Given the description of an element on the screen output the (x, y) to click on. 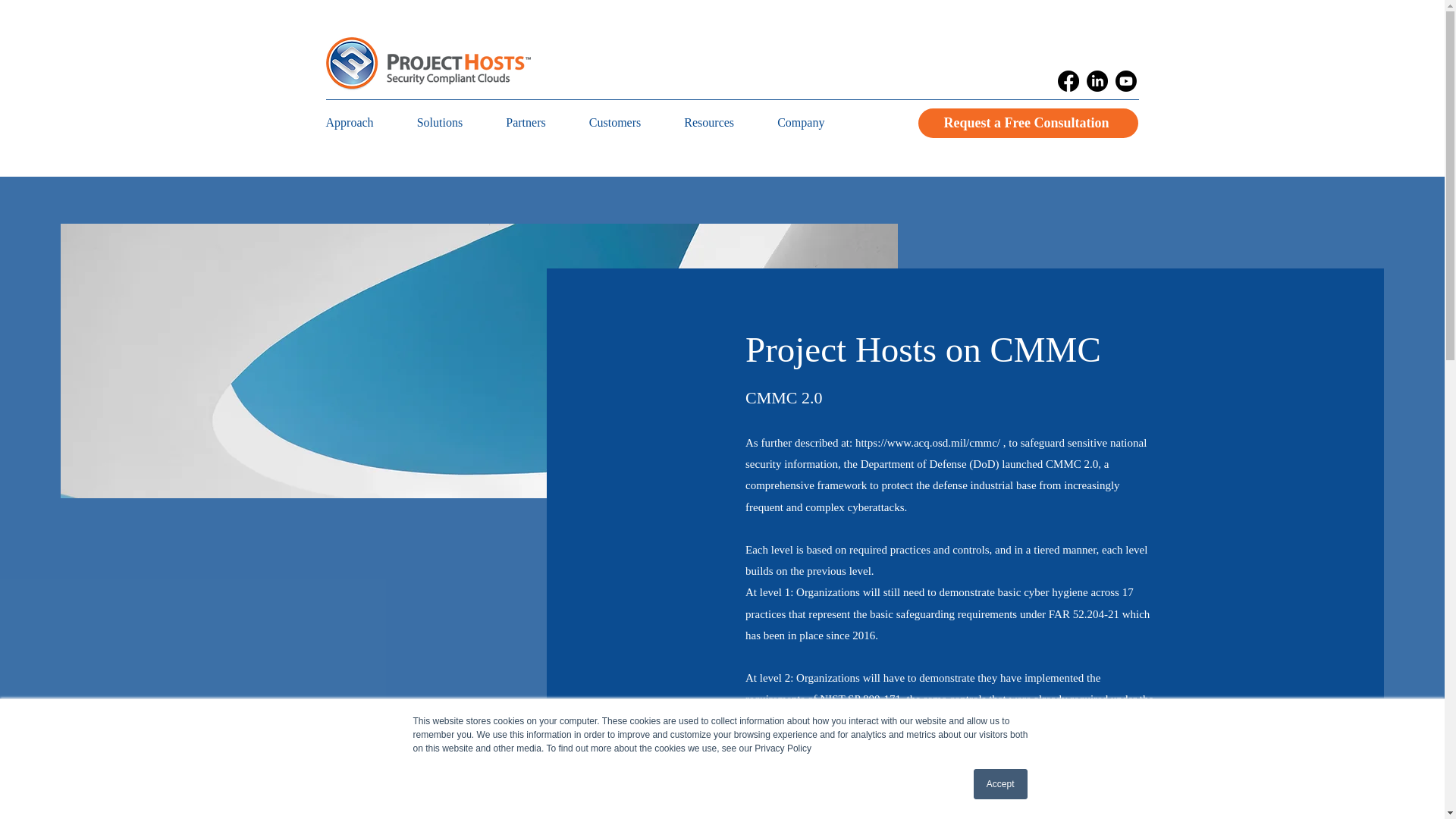
Customers (633, 123)
Approach (368, 123)
Resources (727, 123)
Request a Free Consultation (1027, 123)
Accept (1000, 784)
Solutions (458, 123)
Partners (544, 123)
Company (819, 123)
